Given the description of an element on the screen output the (x, y) to click on. 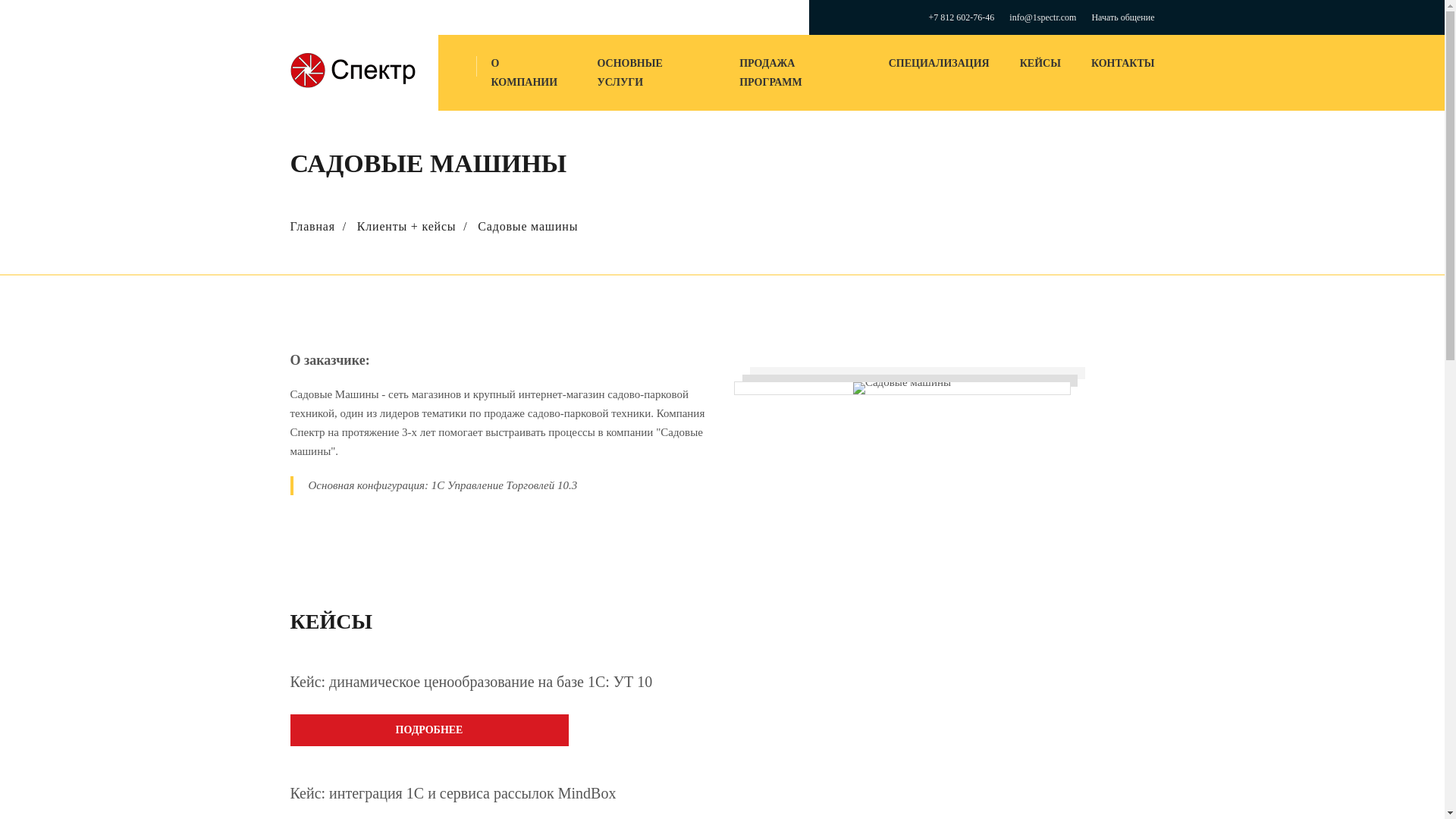
info@1spectr.com Element type: text (1042, 17)
+7 812 602-76-46 Element type: text (961, 17)
